Given the description of an element on the screen output the (x, y) to click on. 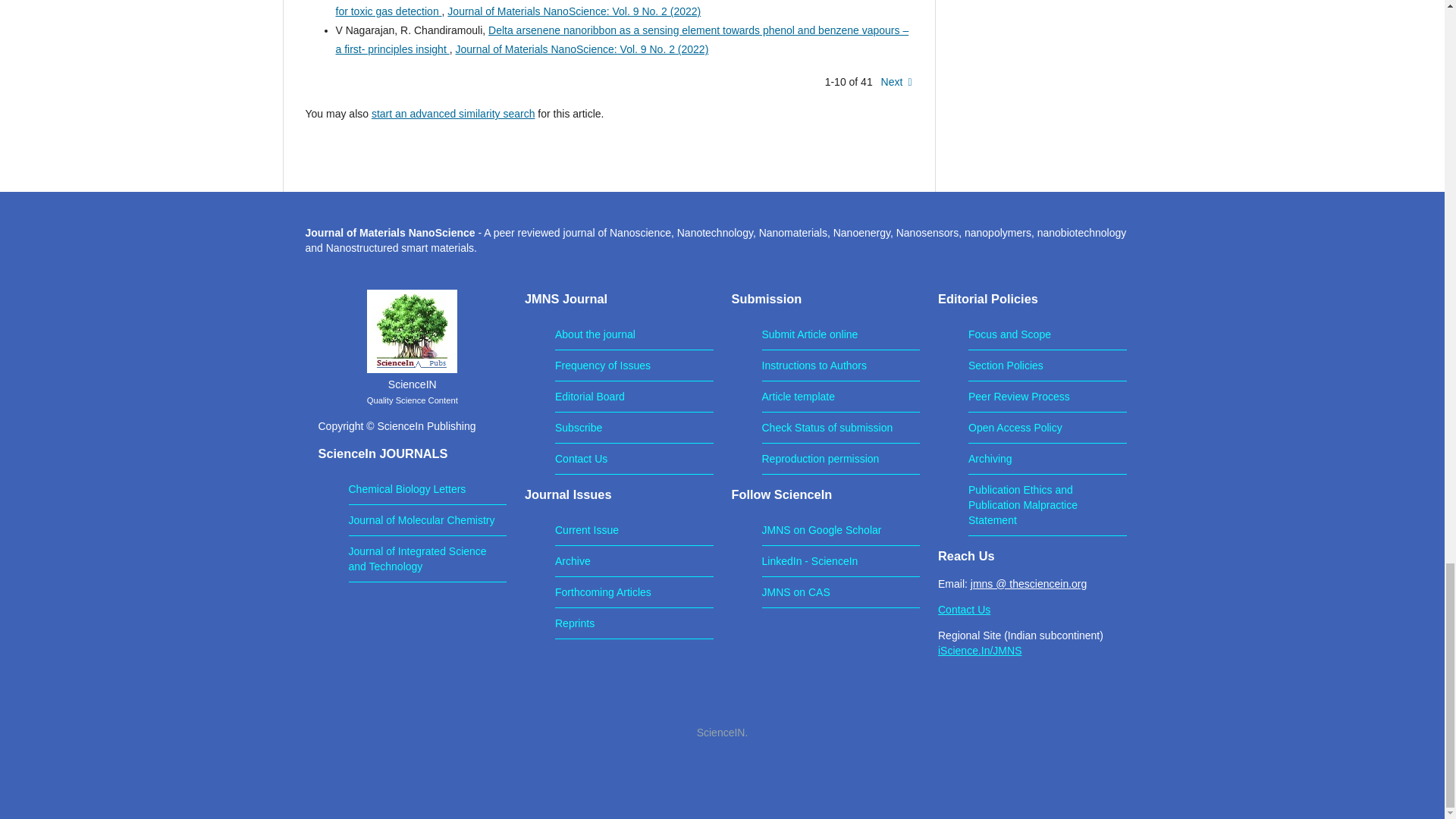
Visit Journal of Molecular Chemistry site (422, 520)
Visit Journal of Integrated Science site (417, 558)
Link to Materials Nanoscience on Indian Continent site (979, 650)
Visit Chemical Biology Letters site (407, 489)
